Given the description of an element on the screen output the (x, y) to click on. 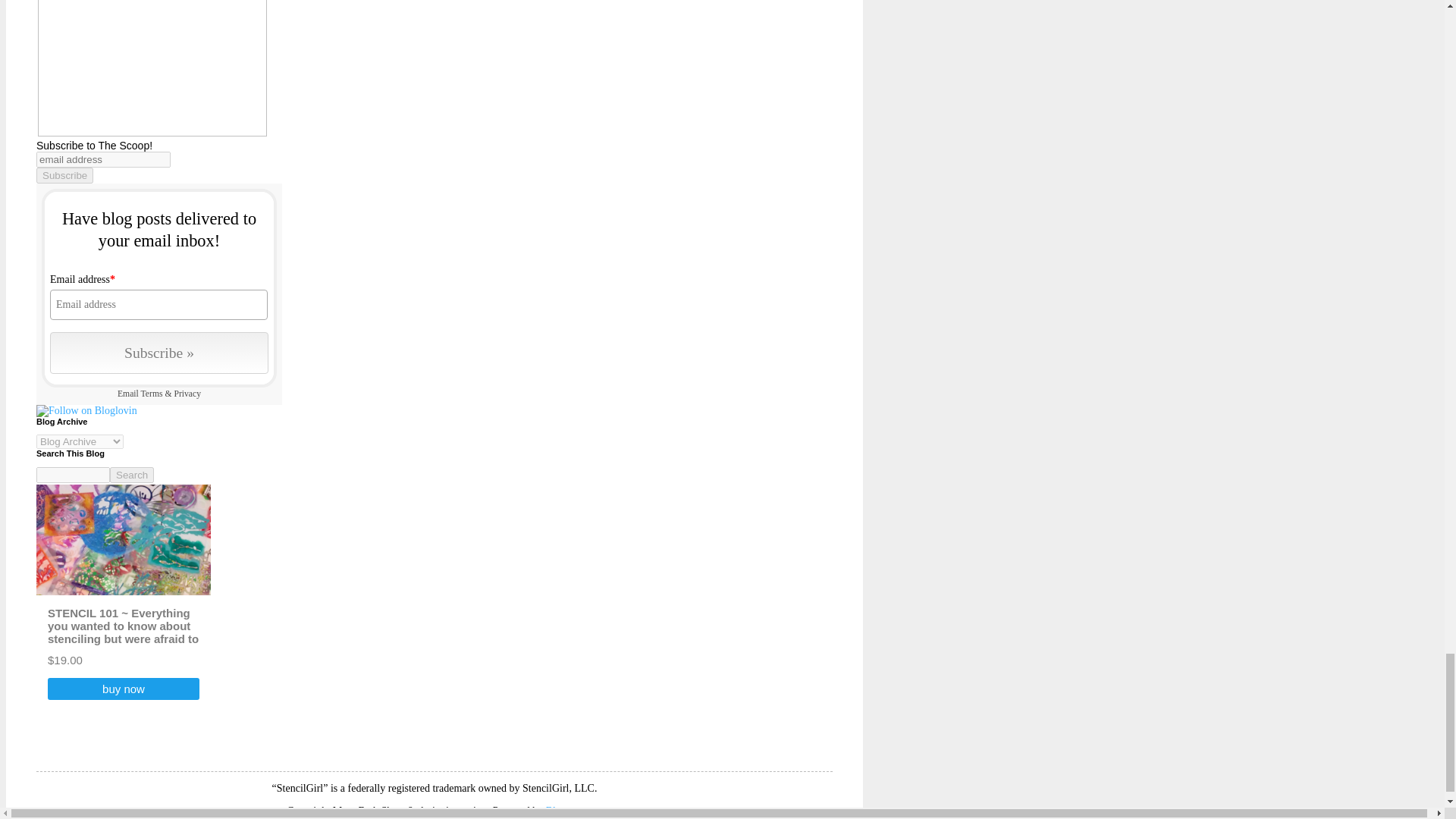
Search (132, 474)
click to join (158, 352)
Subscribe (64, 175)
Search (132, 474)
Email address (158, 304)
